Given the description of an element on the screen output the (x, y) to click on. 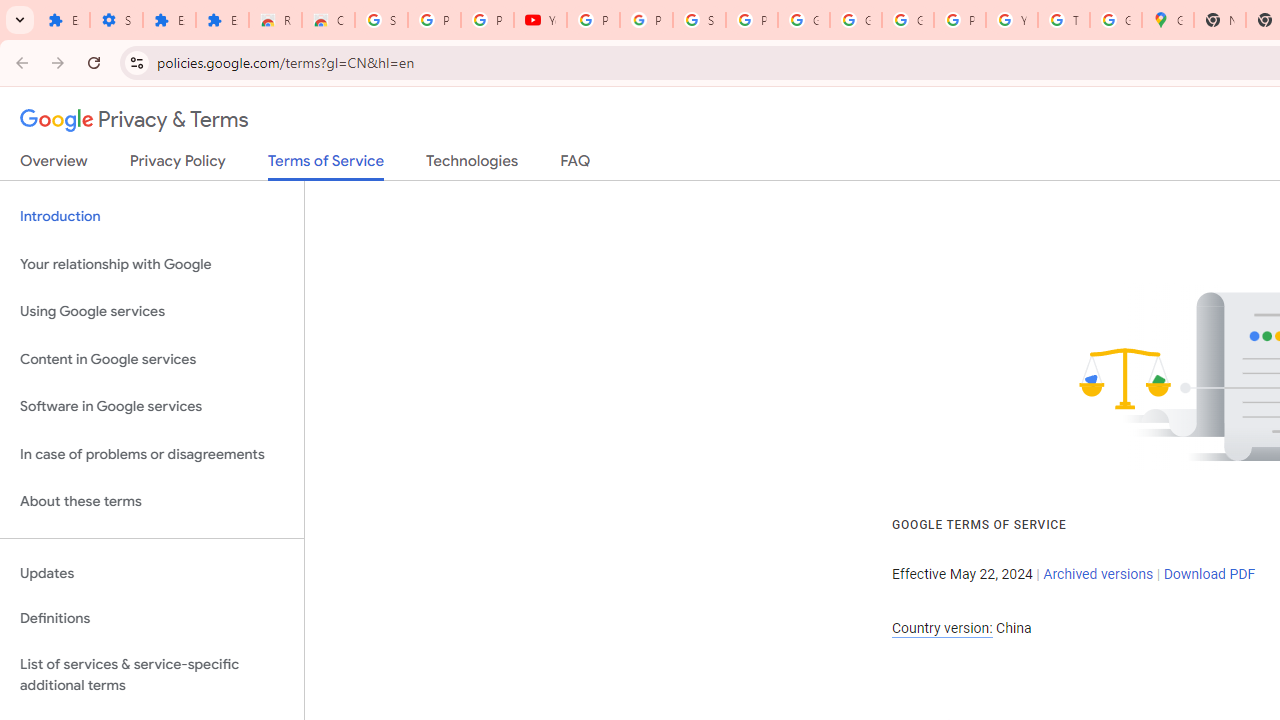
Reviews: Helix Fruit Jump Arcade Game (275, 20)
